Given the description of an element on the screen output the (x, y) to click on. 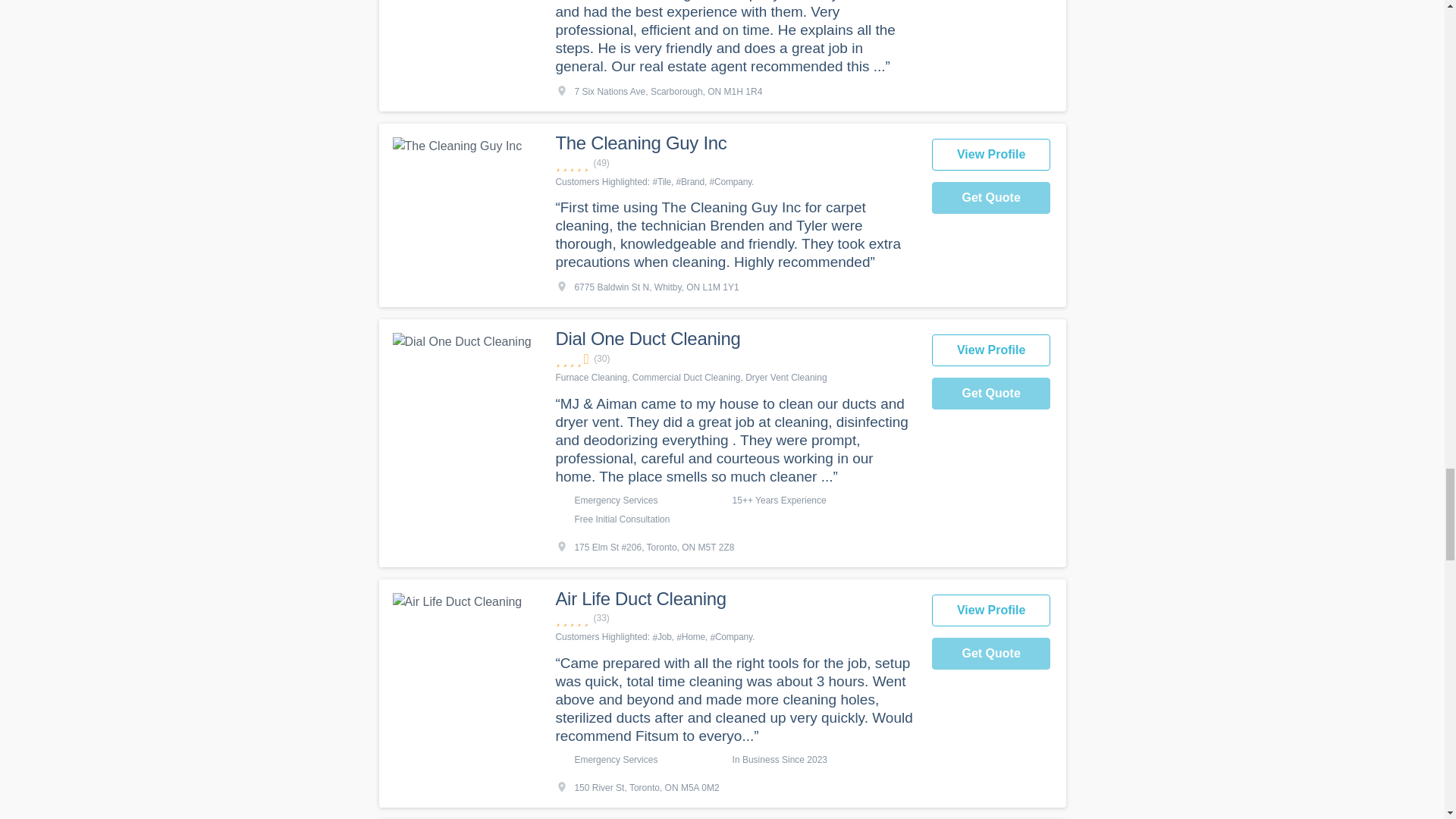
4.2 (734, 359)
5.0 (734, 617)
4.8 (734, 163)
